Given the description of an element on the screen output the (x, y) to click on. 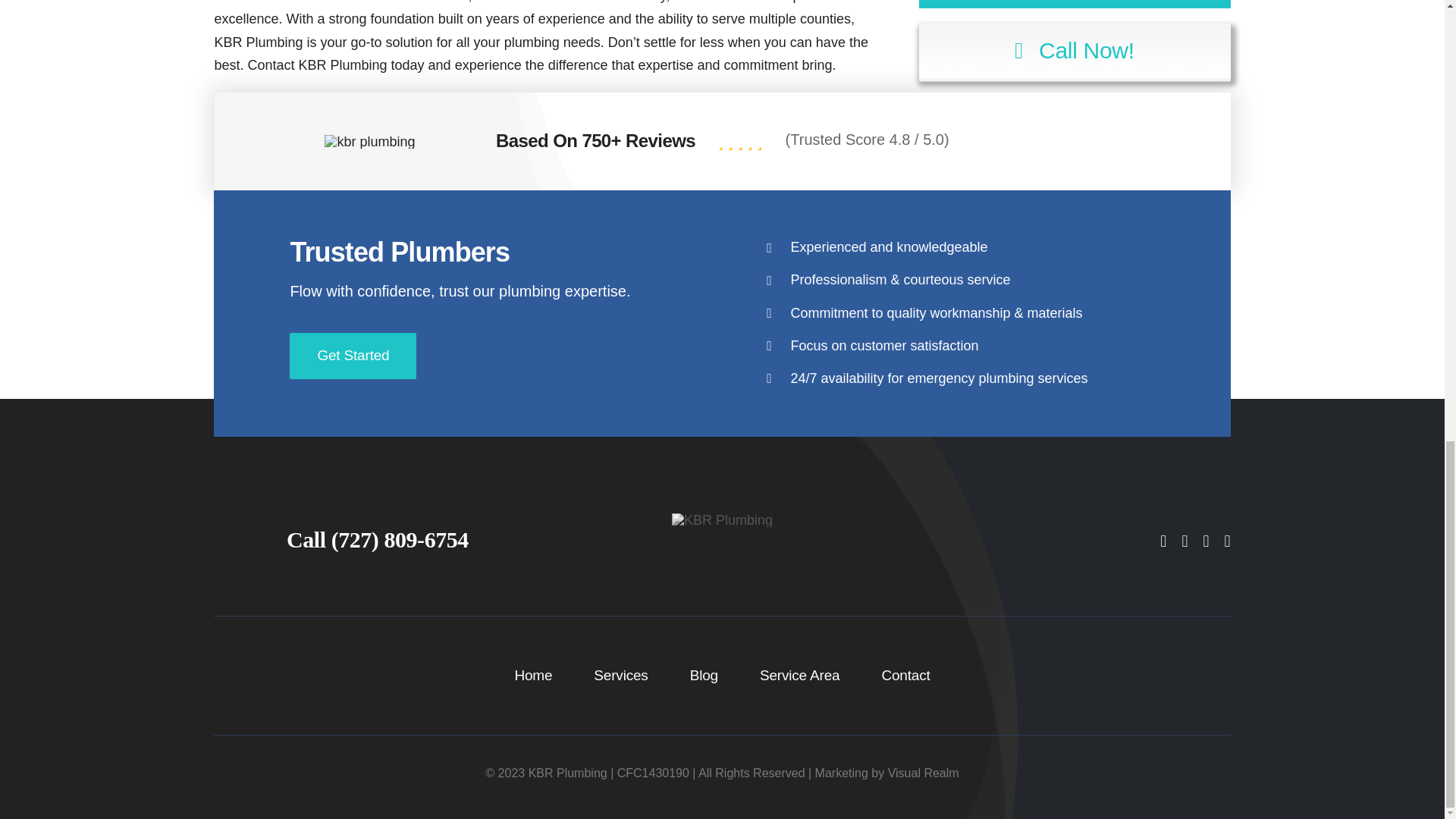
About Us 2 (722, 520)
kbr-plumbing (369, 141)
Get Started (352, 355)
